Given the description of an element on the screen output the (x, y) to click on. 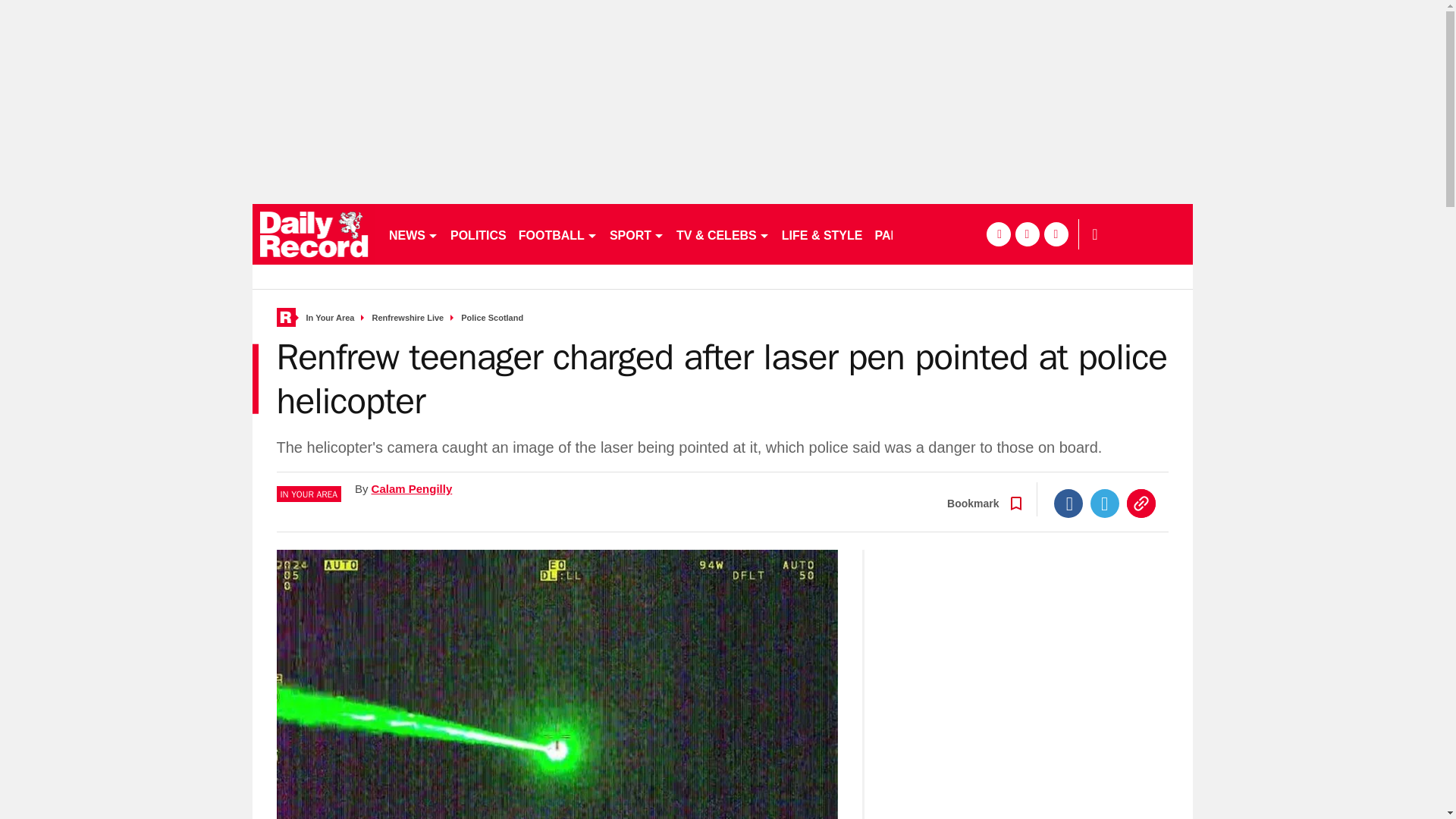
SPORT (636, 233)
NEWS (413, 233)
facebook (997, 233)
dailyrecord (313, 233)
FOOTBALL (558, 233)
POLITICS (478, 233)
Twitter (1104, 502)
twitter (1026, 233)
Facebook (1068, 502)
instagram (1055, 233)
